Given the description of an element on the screen output the (x, y) to click on. 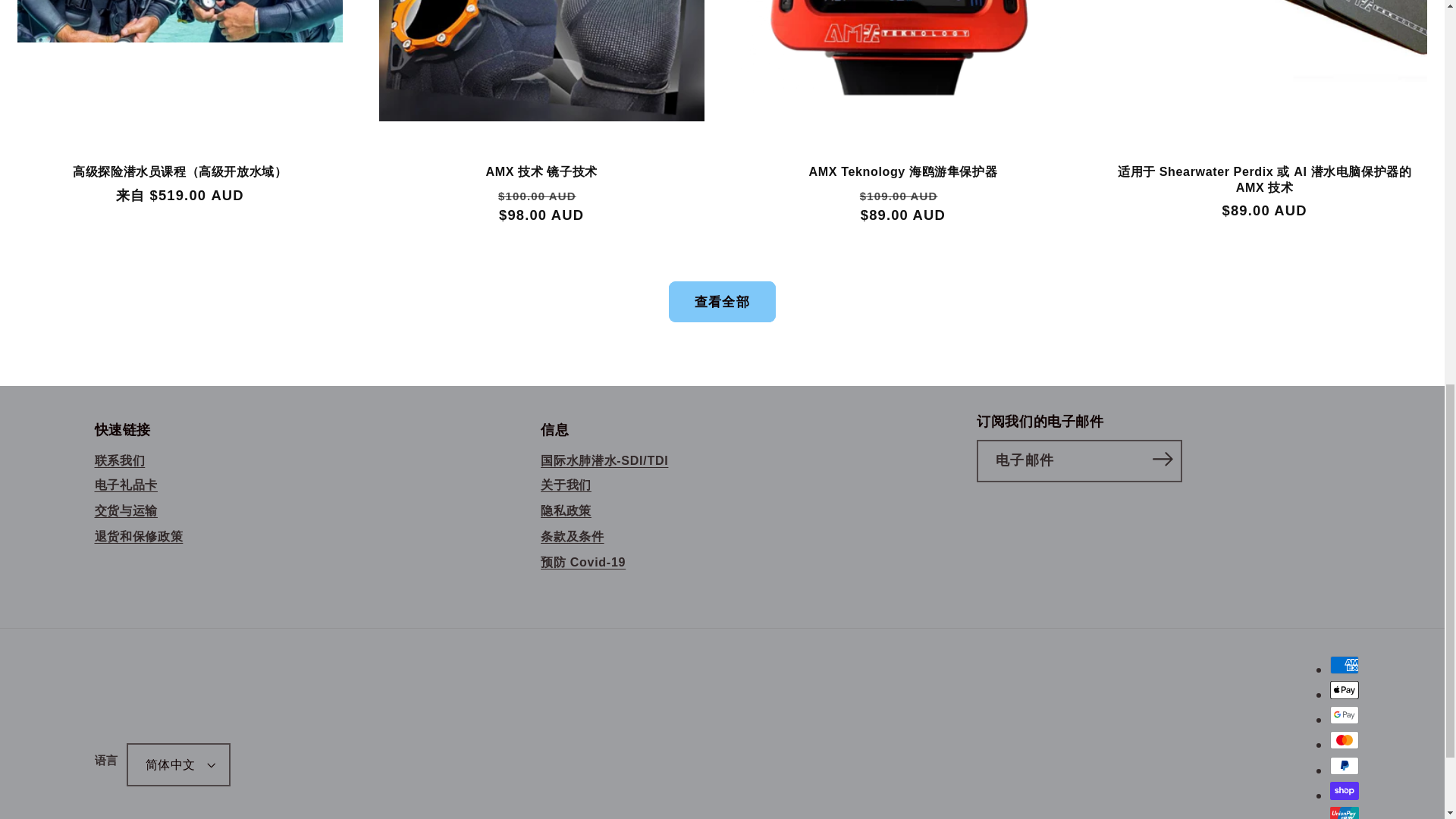
Shop Pay (1344, 791)
Union Pay (1344, 812)
Google Pay (1344, 714)
Apple Pay (1344, 689)
PayPal (1344, 765)
Mastercard (1344, 740)
American Express (1344, 665)
